Given the description of an element on the screen output the (x, y) to click on. 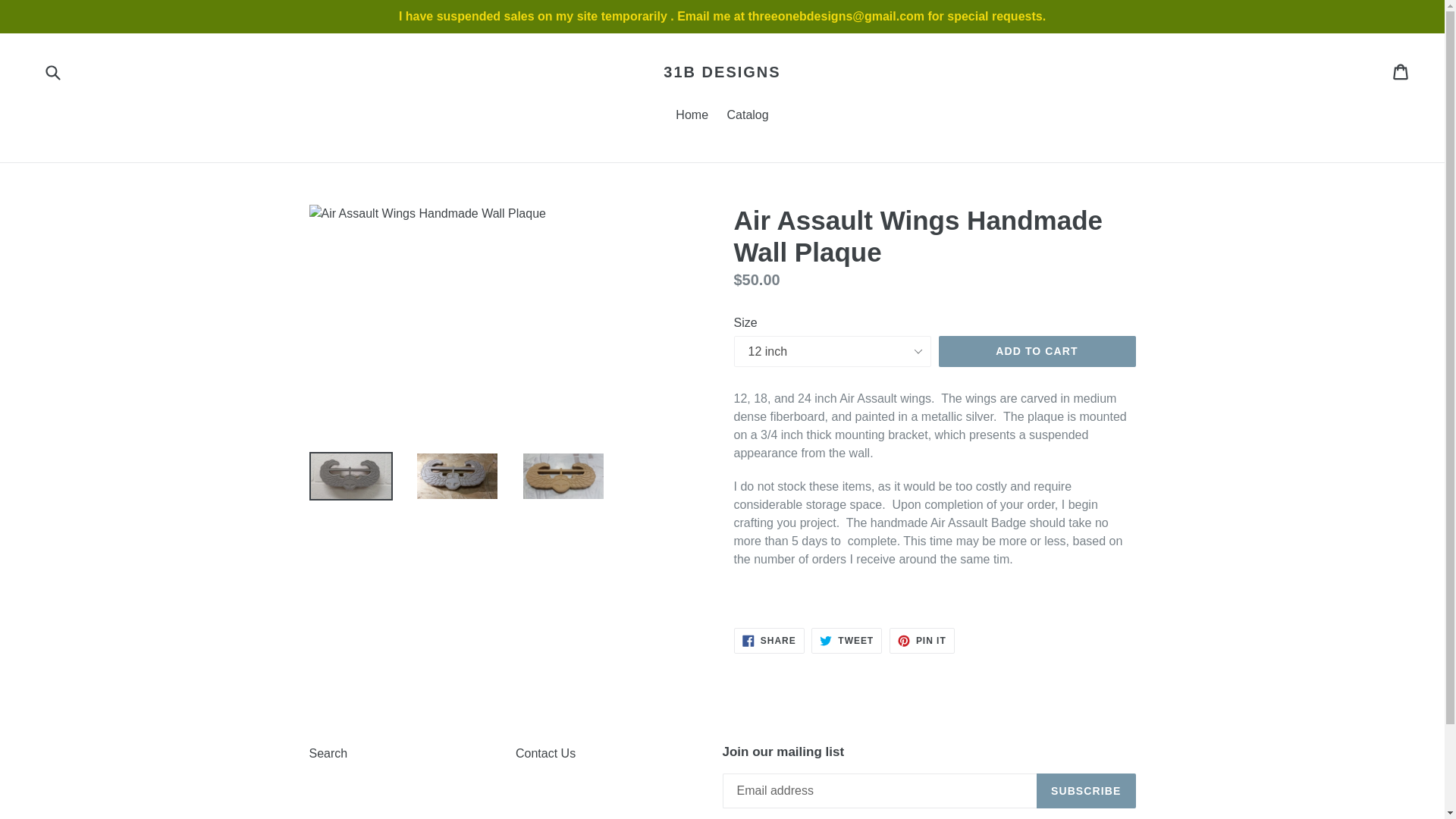
Pin on Pinterest (922, 640)
Contact Us (545, 753)
Home (692, 116)
31B DESIGNS (721, 72)
Search (327, 753)
ADD TO CART (1037, 351)
Share on Facebook (769, 640)
Tweet on Twitter (769, 640)
